Given the description of an element on the screen output the (x, y) to click on. 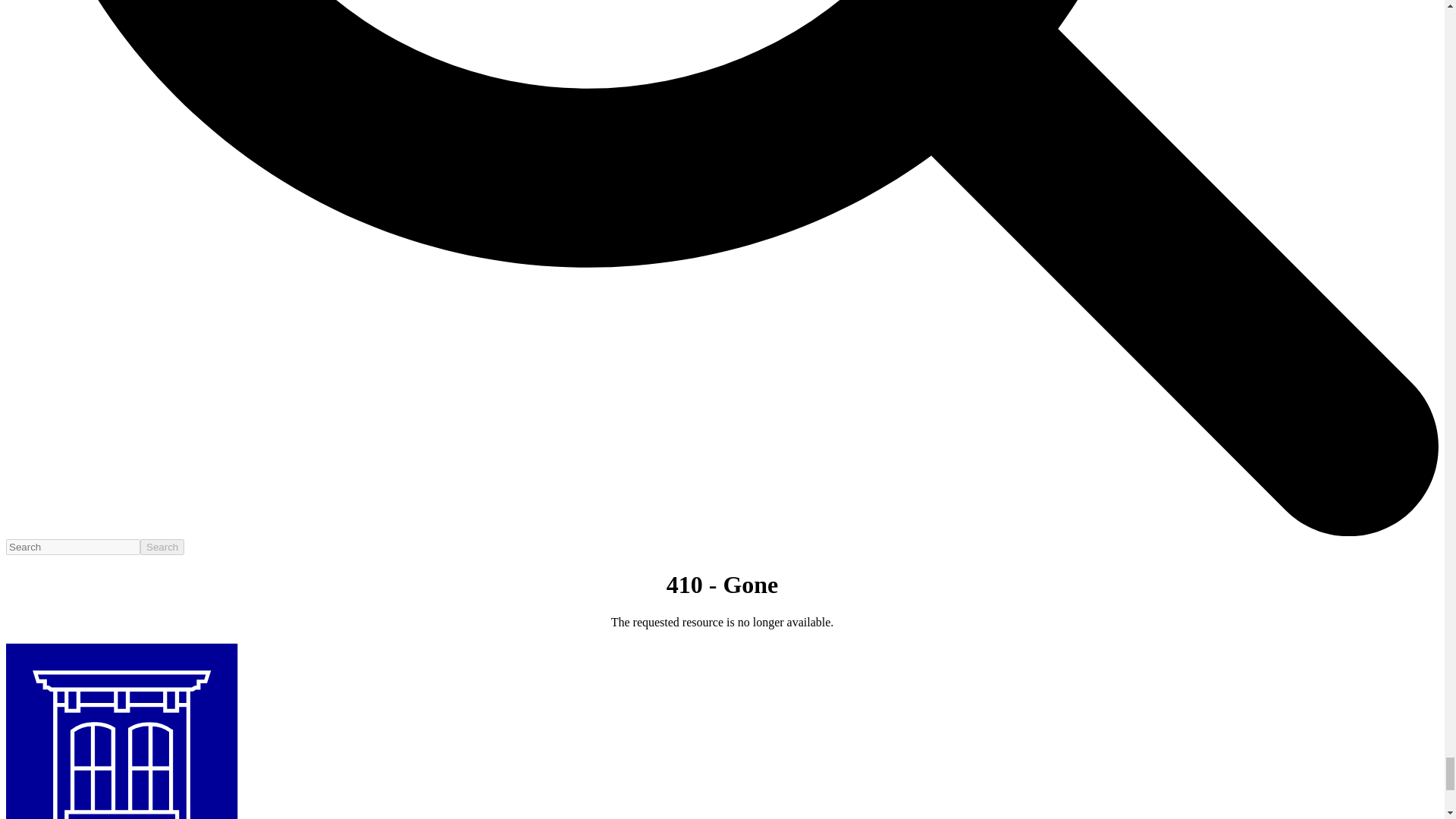
Search (161, 546)
